Given the description of an element on the screen output the (x, y) to click on. 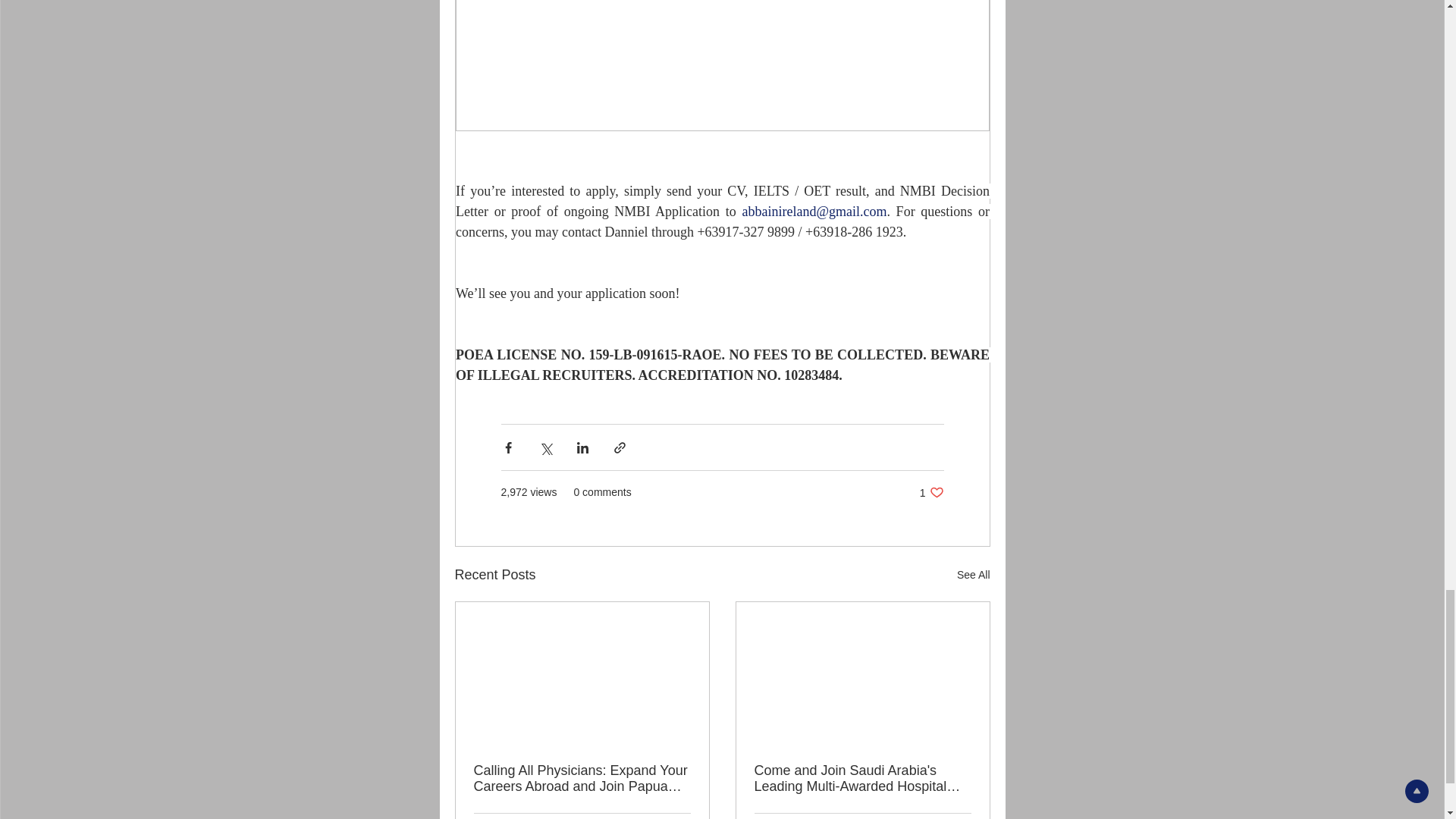
See All (931, 492)
